Given the description of an element on the screen output the (x, y) to click on. 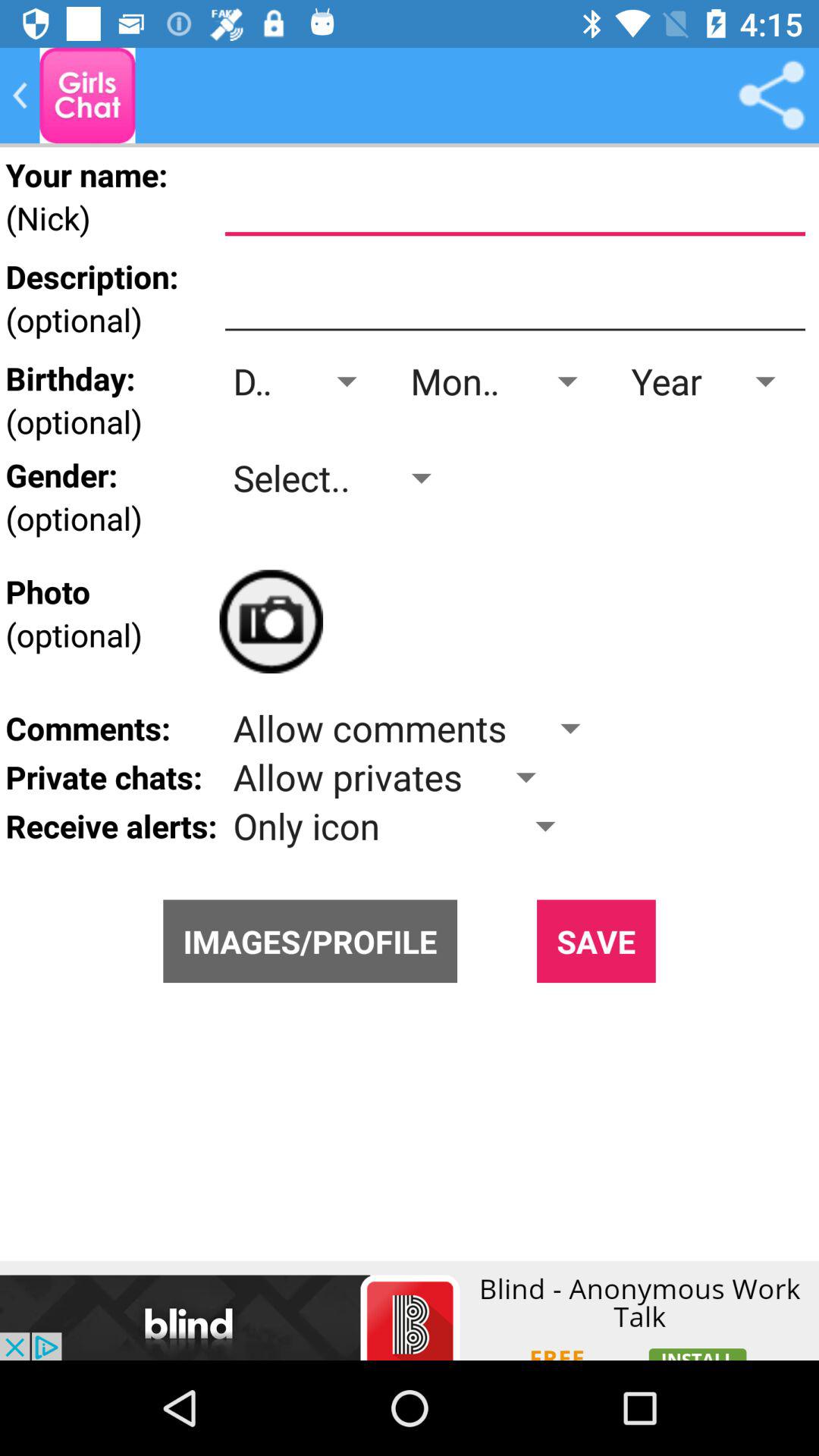
enter your name (515, 200)
